Given the description of an element on the screen output the (x, y) to click on. 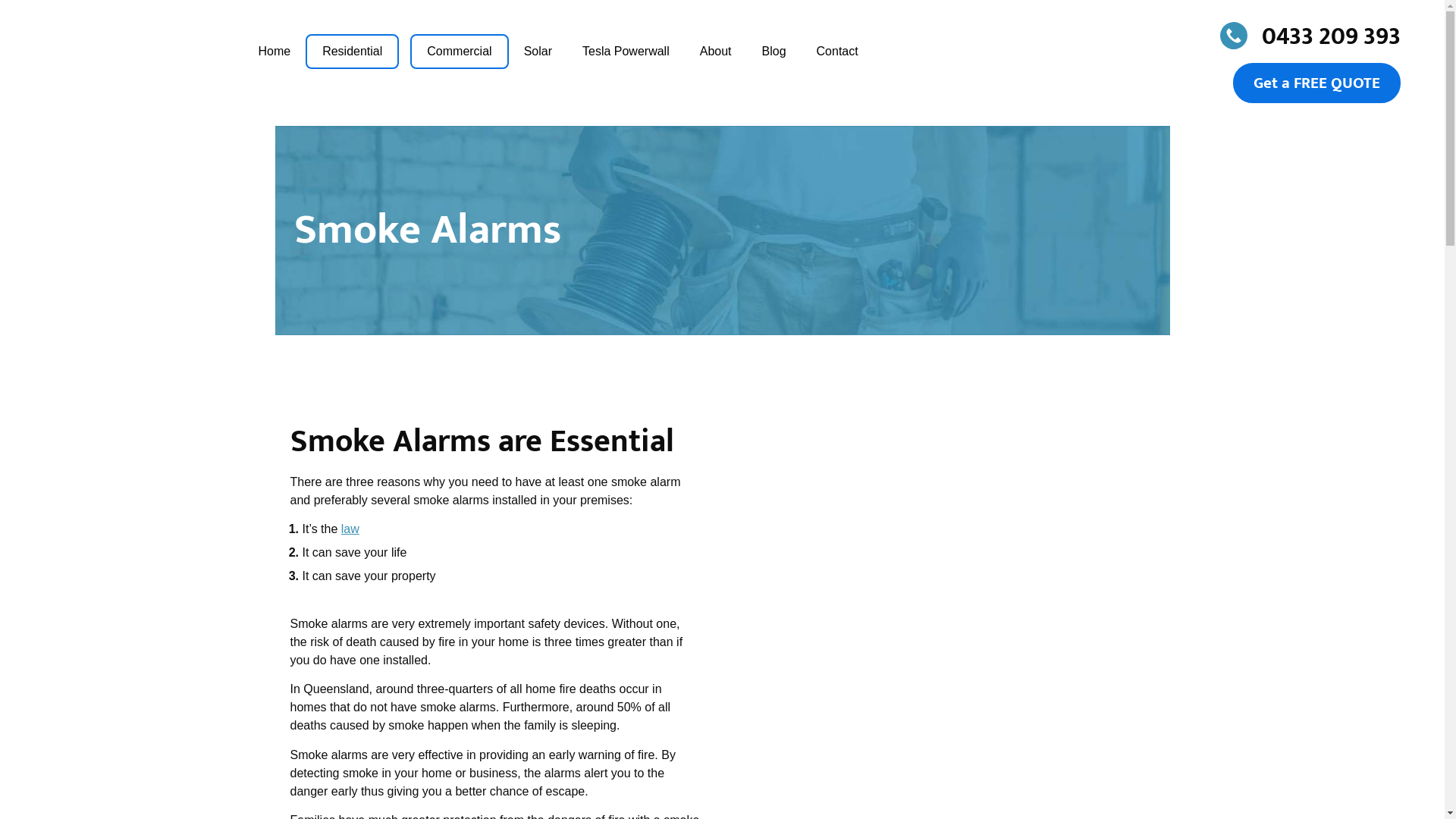
Residential Element type: text (351, 51)
0433 209 393 Element type: text (1257, 35)
Contact Element type: text (829, 51)
Home Element type: text (281, 51)
About Element type: text (715, 51)
Solar Element type: text (537, 51)
law Element type: text (350, 528)
Blog Element type: text (773, 51)
Tesla Powerwall Element type: text (625, 51)
Commercial Element type: text (459, 51)
Get a FREE QUOTE Element type: text (1316, 82)
